Given the description of an element on the screen output the (x, y) to click on. 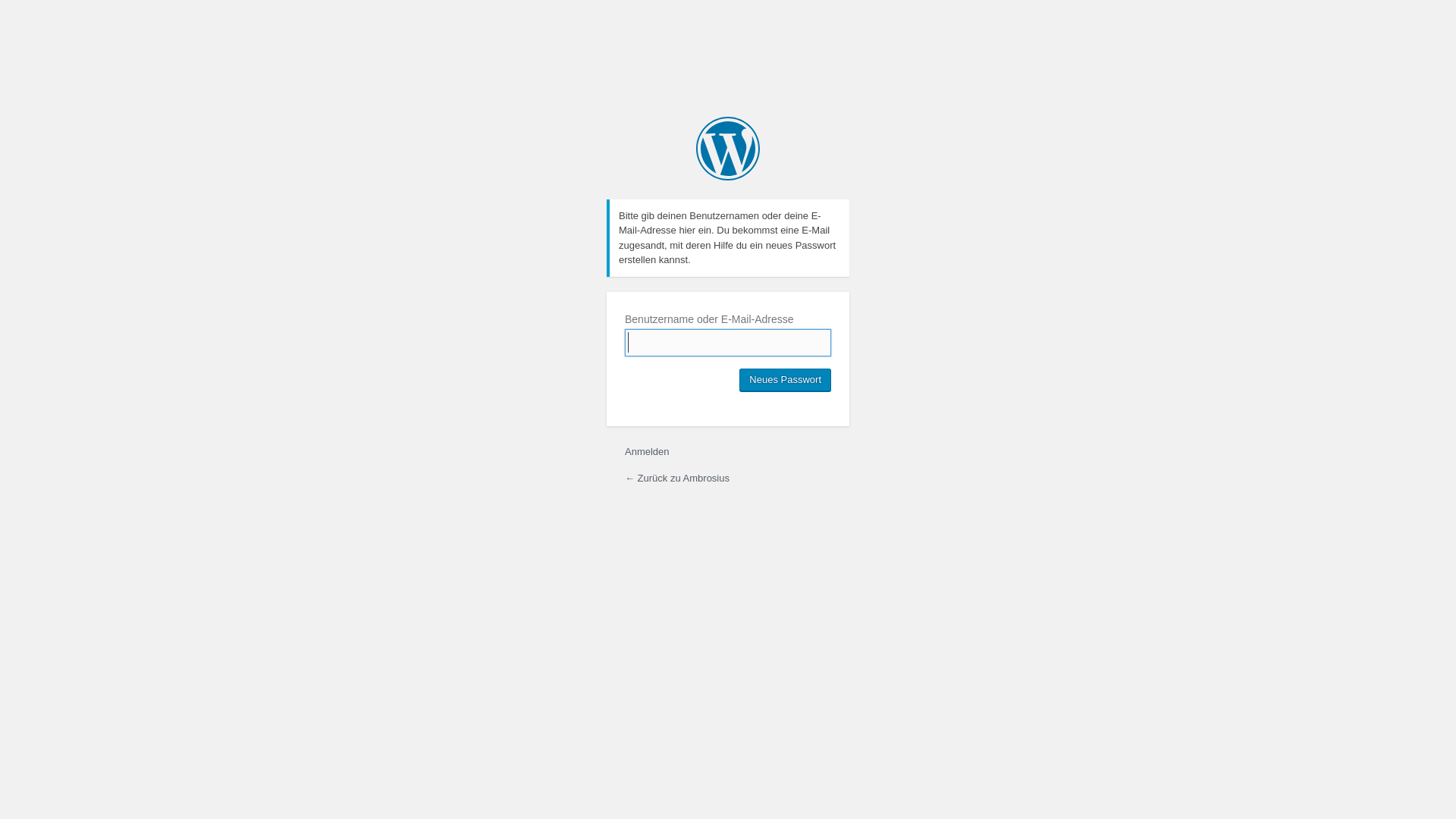
Neues Passwort Element type: text (785, 379)
Ambrosius Element type: text (727, 148)
Anmelden Element type: text (646, 451)
